Given the description of an element on the screen output the (x, y) to click on. 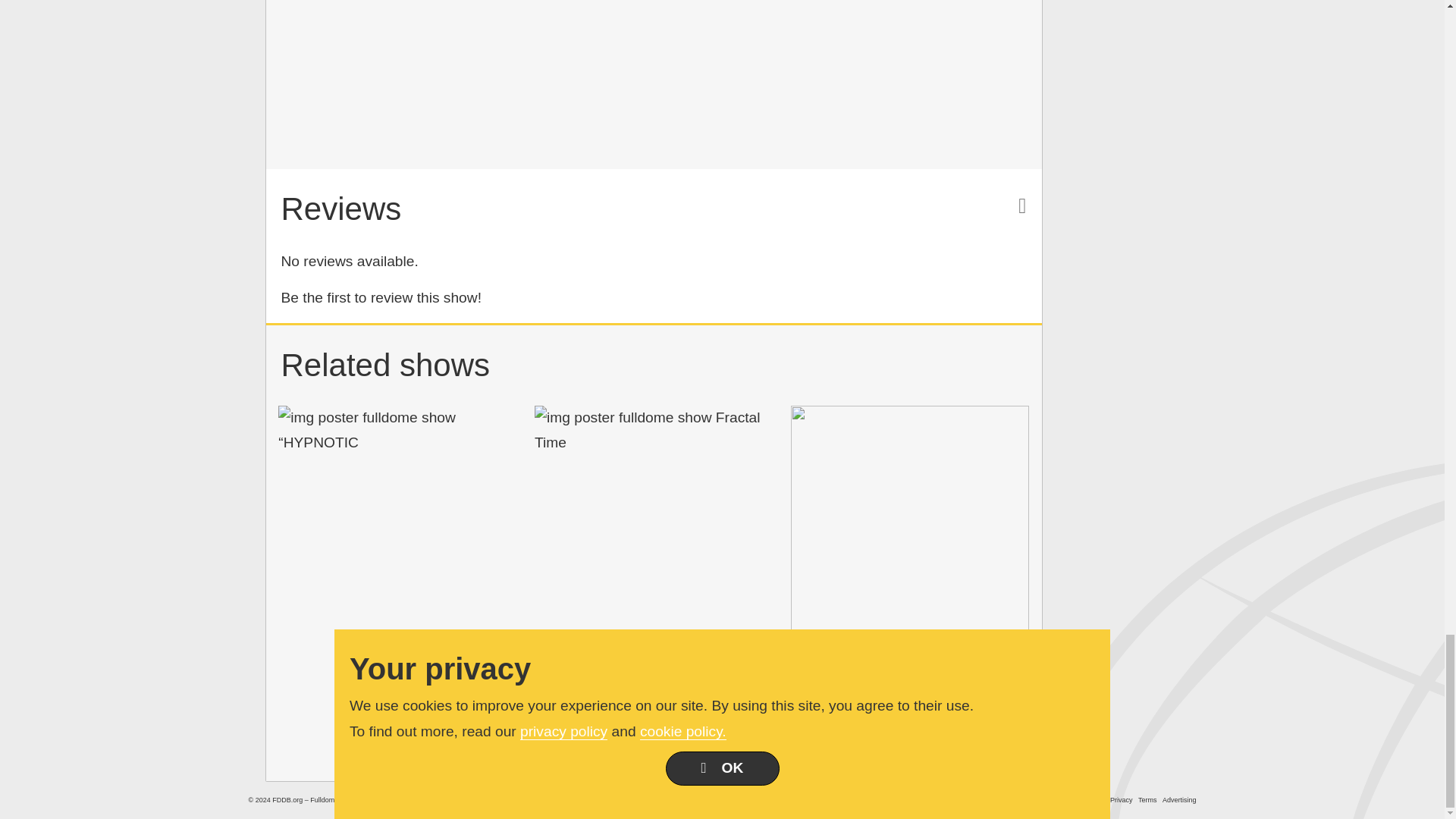
Fractal Time (653, 430)
